Given the description of an element on the screen output the (x, y) to click on. 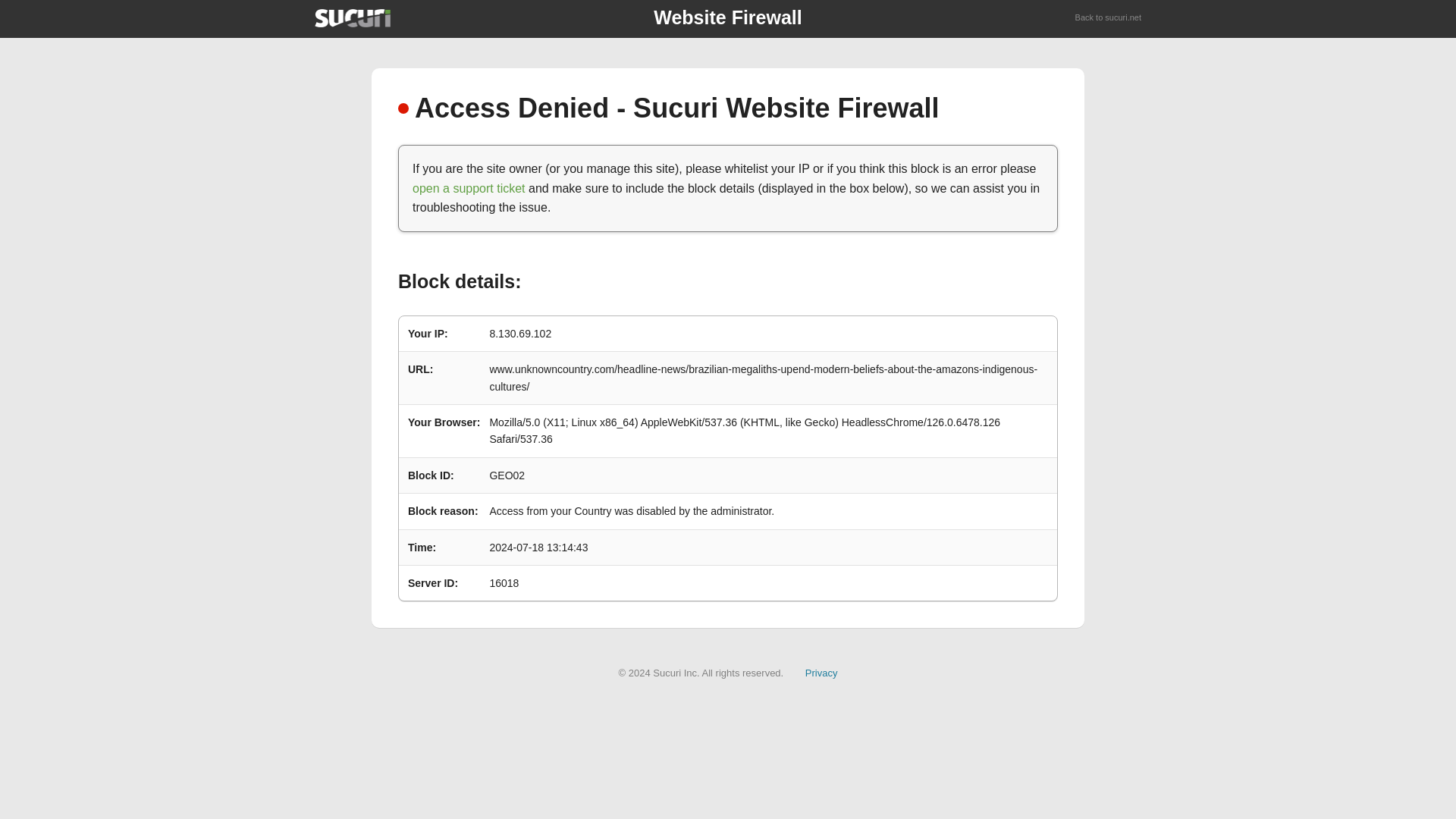
Back to sucuri.net (1108, 18)
Privacy (821, 672)
open a support ticket (468, 187)
